Given the description of an element on the screen output the (x, y) to click on. 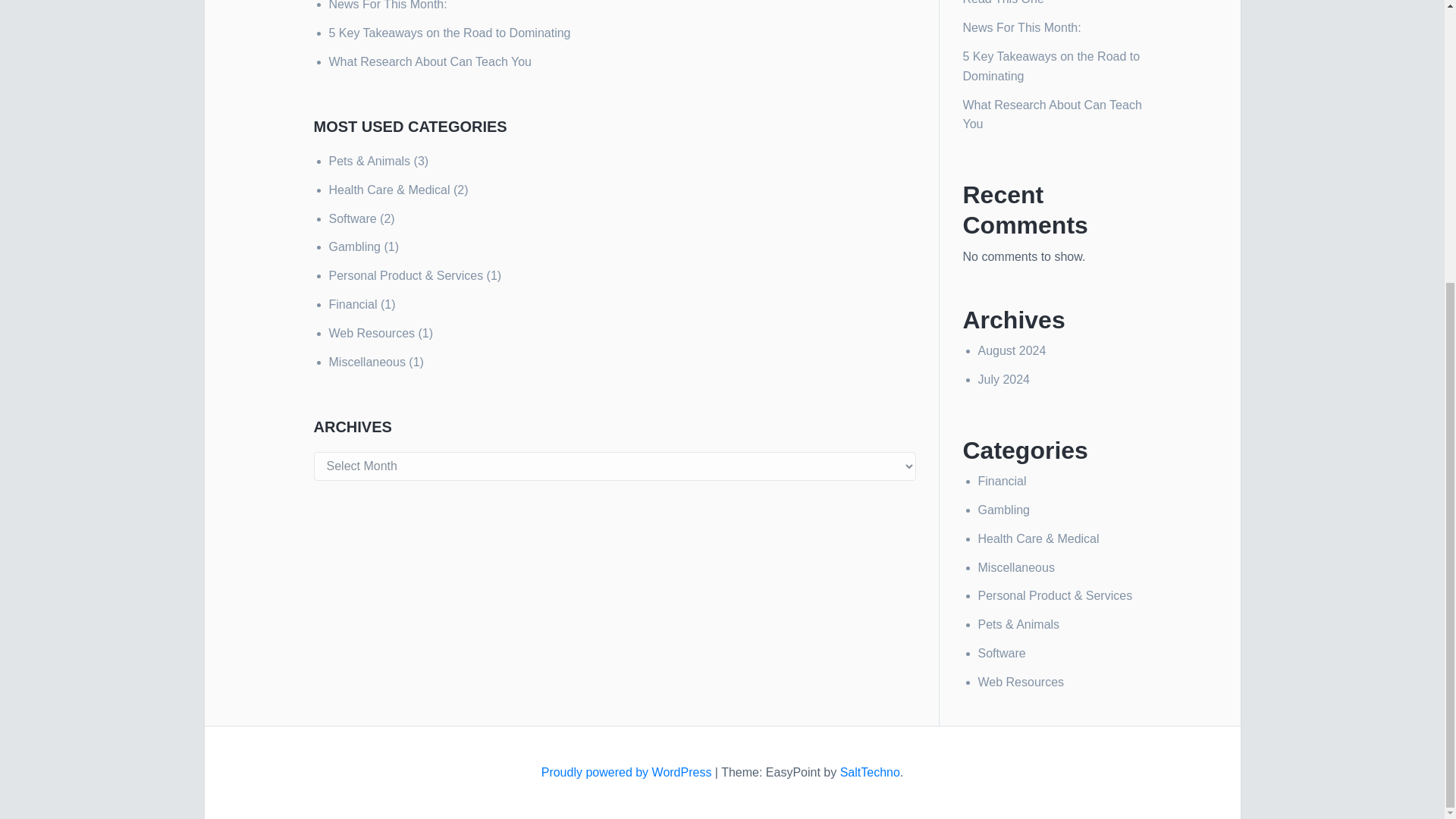
Web Resources (371, 332)
What Research About Can Teach You (430, 61)
July 2024 (1004, 379)
5 Key Takeaways on the Road to Dominating (449, 32)
Web Resources (1021, 681)
Gambling (354, 246)
5 Key Takeaways on the Road to Dominating (1051, 65)
Financial (1002, 481)
Miscellaneous (1016, 567)
If You Read One Article About , Read This One (1045, 2)
